Given the description of an element on the screen output the (x, y) to click on. 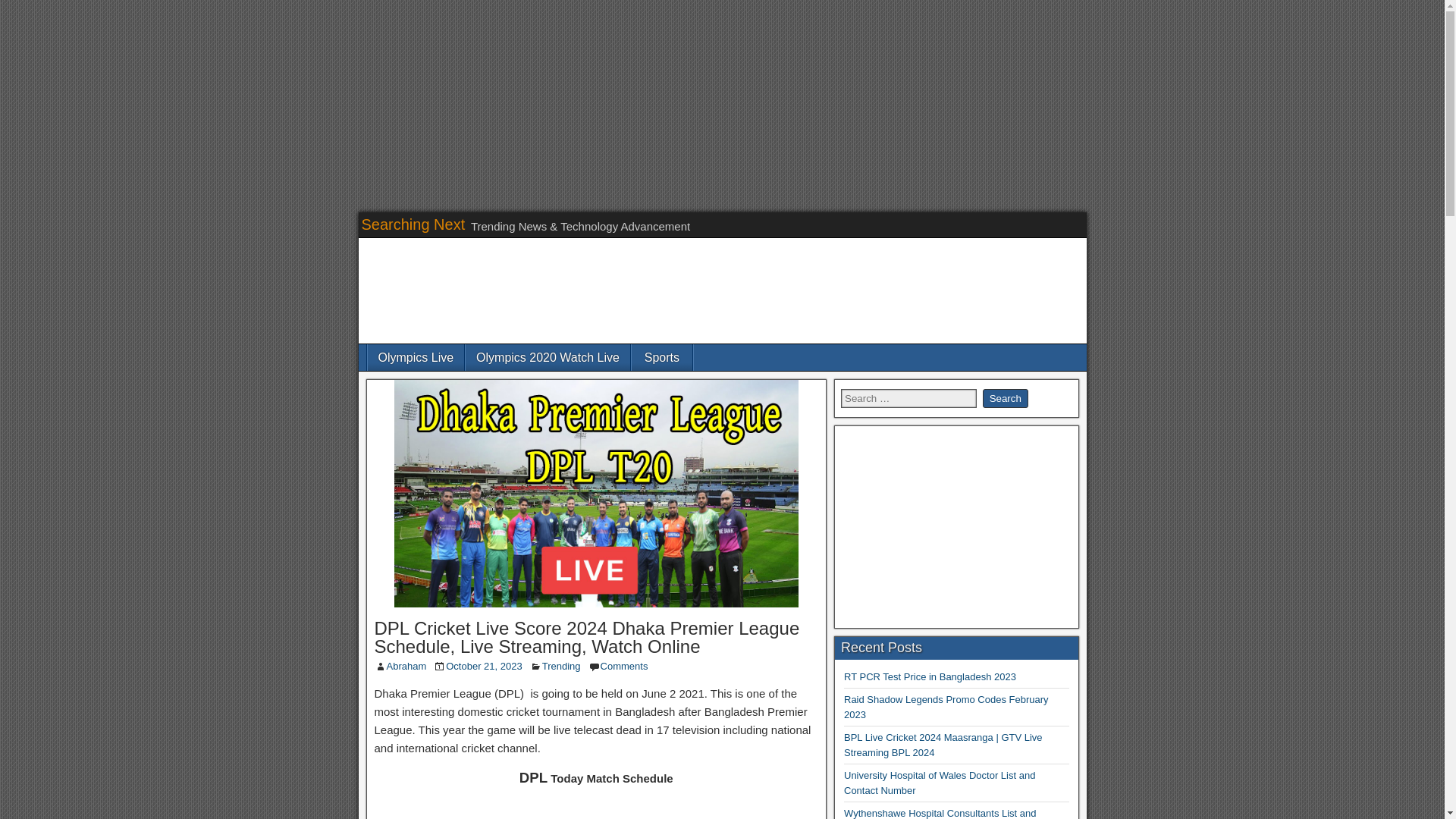
Advertisement (956, 526)
Trending (560, 665)
Olympics Live (415, 357)
RT PCR Test Price in Bangladesh 2023 (930, 676)
Search (1004, 398)
Wythenshawe Hospital Consultants List and Contact Number (940, 813)
Searching Next (412, 224)
Raid Shadow Legends Promo Codes February 2023 (946, 706)
Advertisement (596, 808)
Olympics 2020 Watch Live (547, 357)
Abraham (406, 665)
University Hospital of Wales Doctor List and Contact Number (939, 782)
Search (1004, 398)
